Given the description of an element on the screen output the (x, y) to click on. 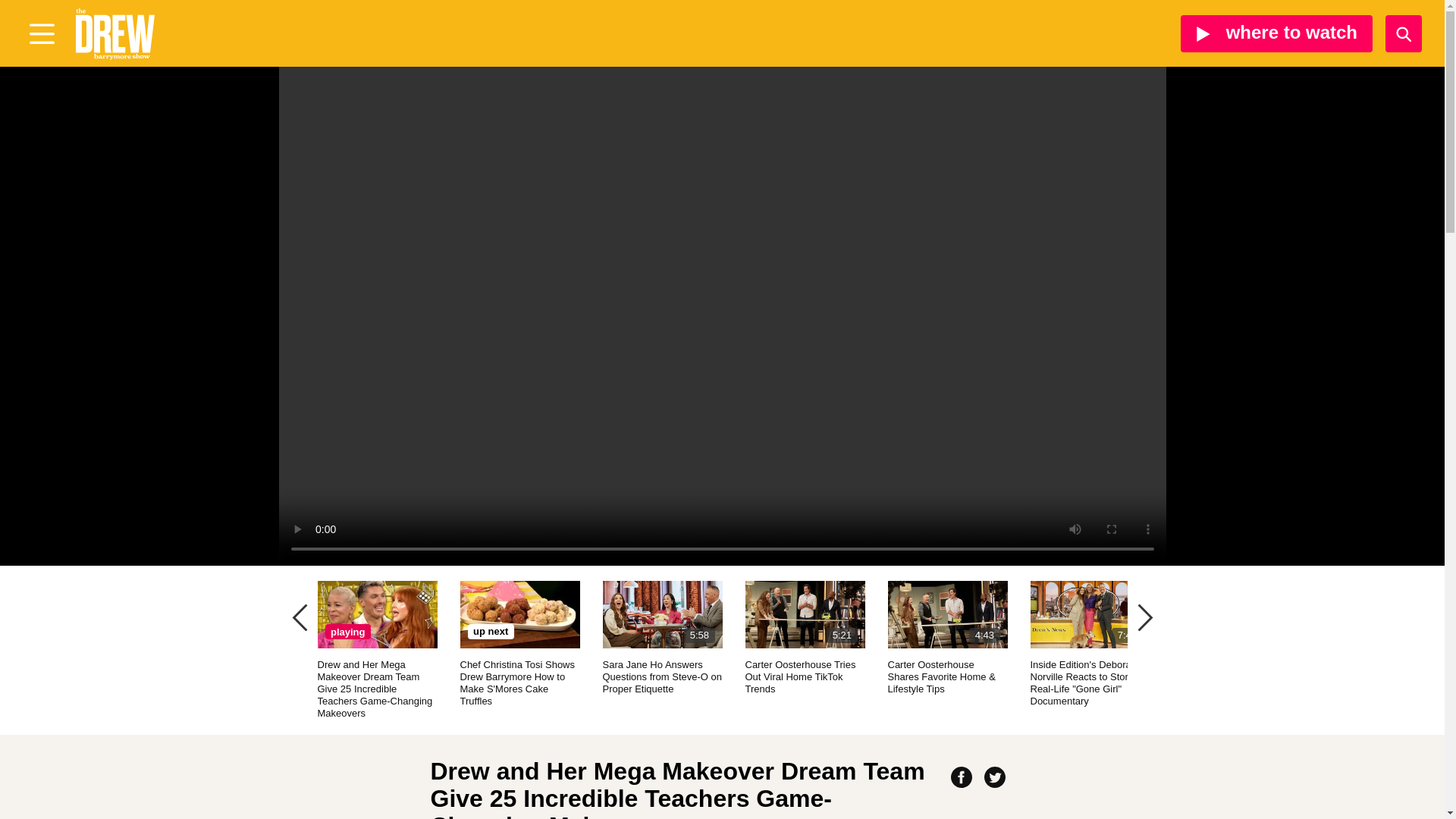
where to watch (804, 637)
